Given the description of an element on the screen output the (x, y) to click on. 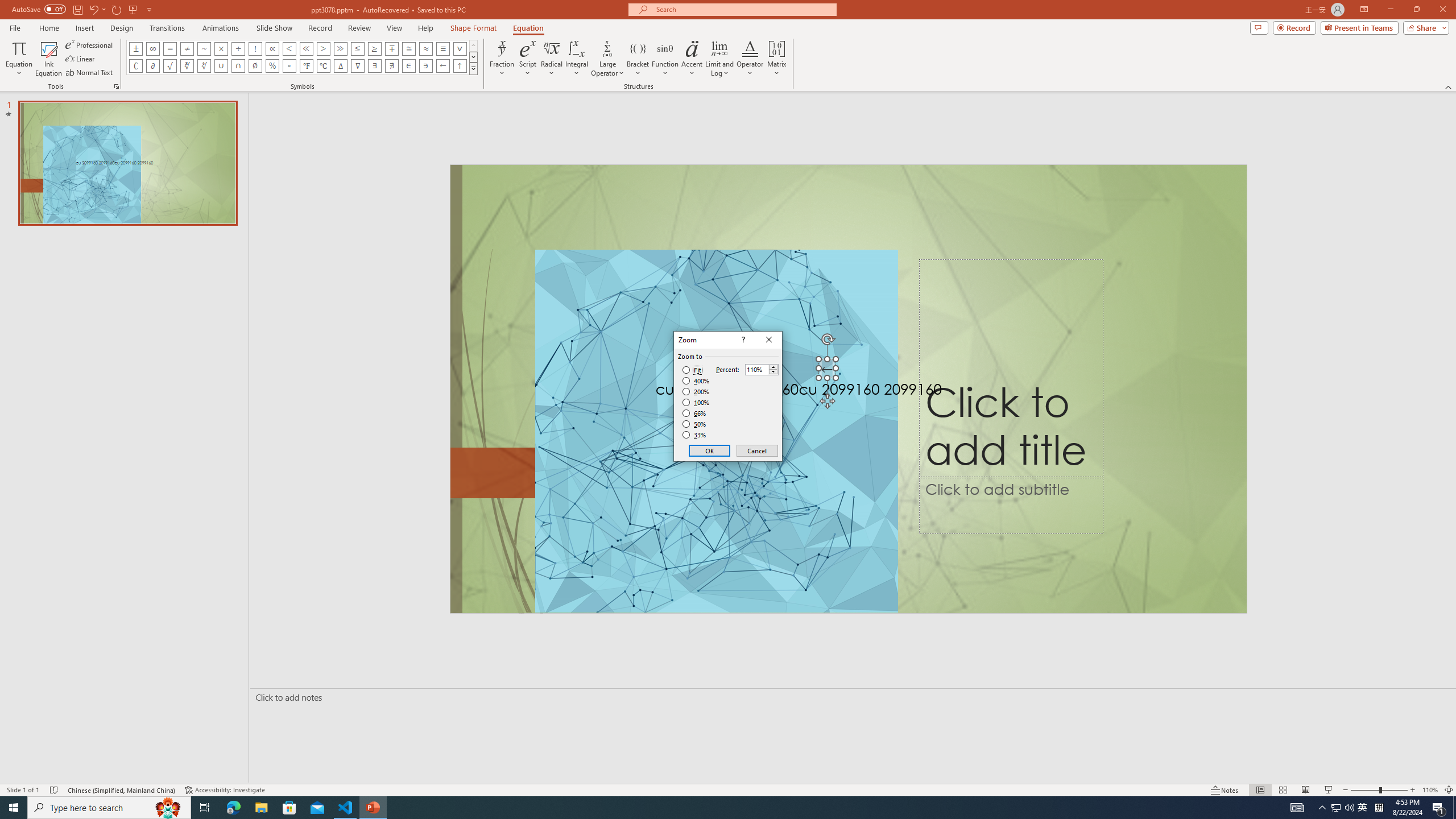
Script (527, 58)
33% (694, 434)
Radical (552, 58)
More (772, 366)
Matrix (776, 58)
Microsoft Edge (233, 807)
Equation Symbol Minus Plus (391, 48)
Equation Options... (116, 85)
